Given the description of an element on the screen output the (x, y) to click on. 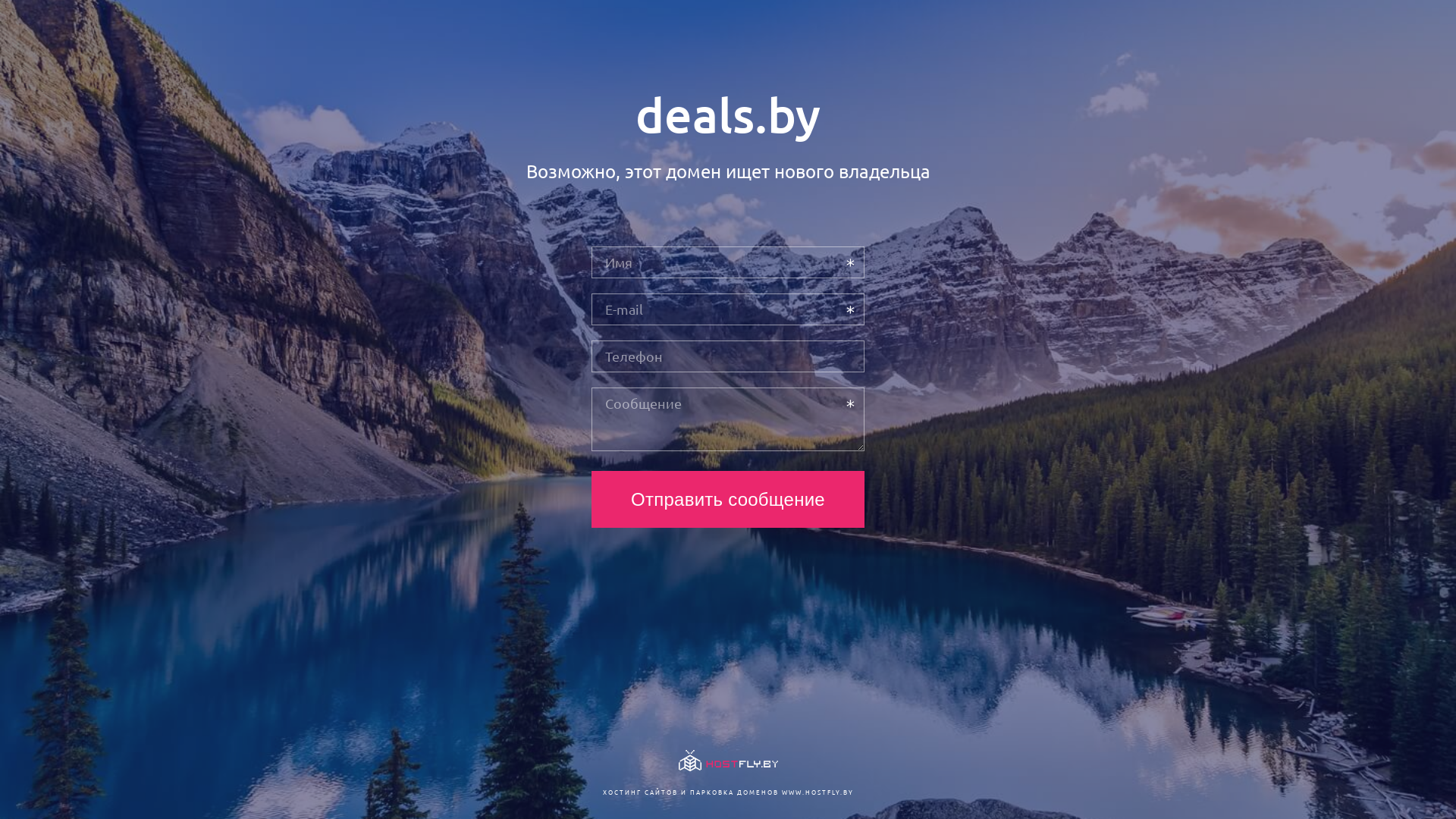
WWW.HOSTFLY.BY Element type: text (817, 791)
